Given the description of an element on the screen output the (x, y) to click on. 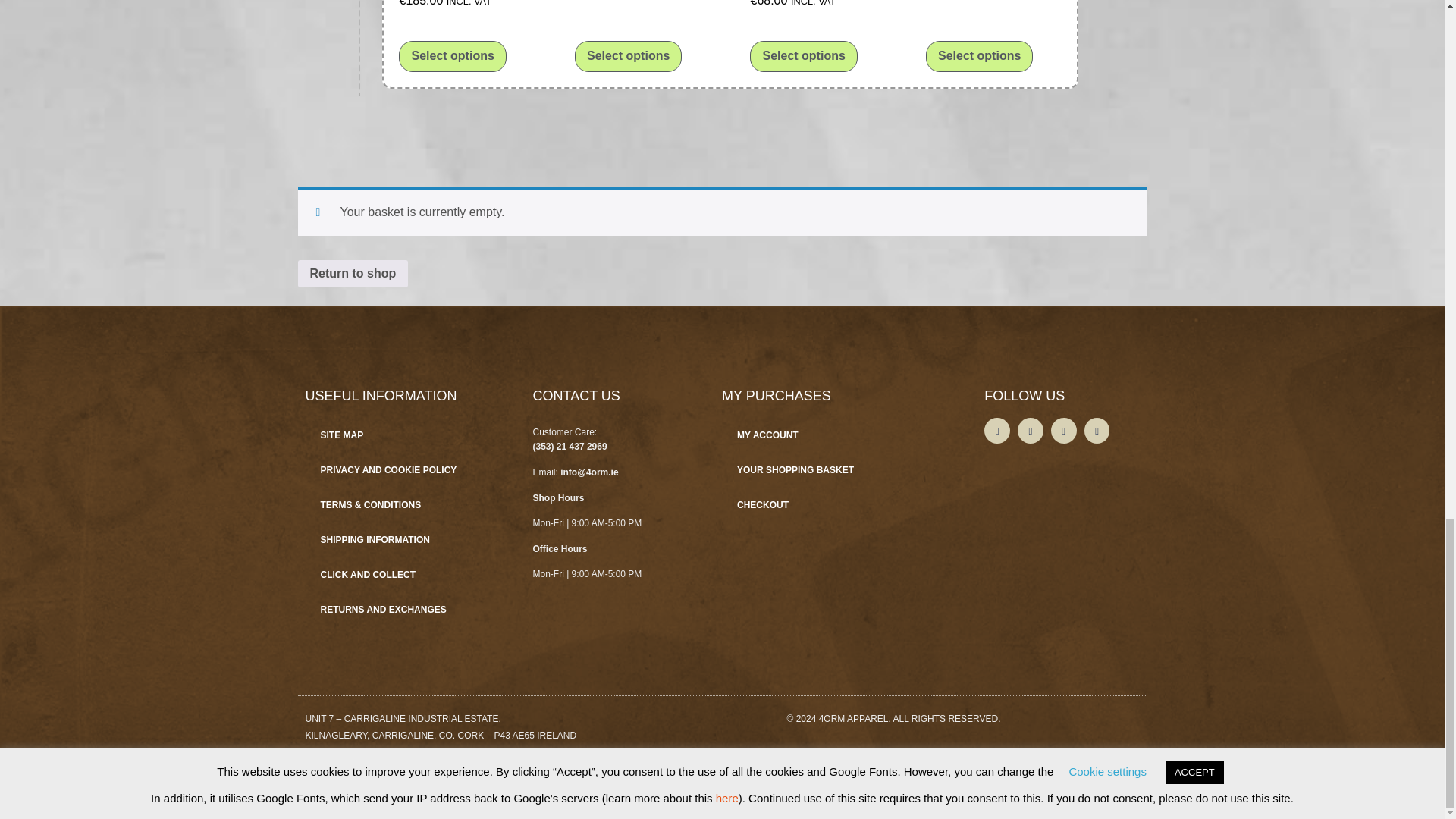
4orm-payment-options-white (353, 780)
